Given the description of an element on the screen output the (x, y) to click on. 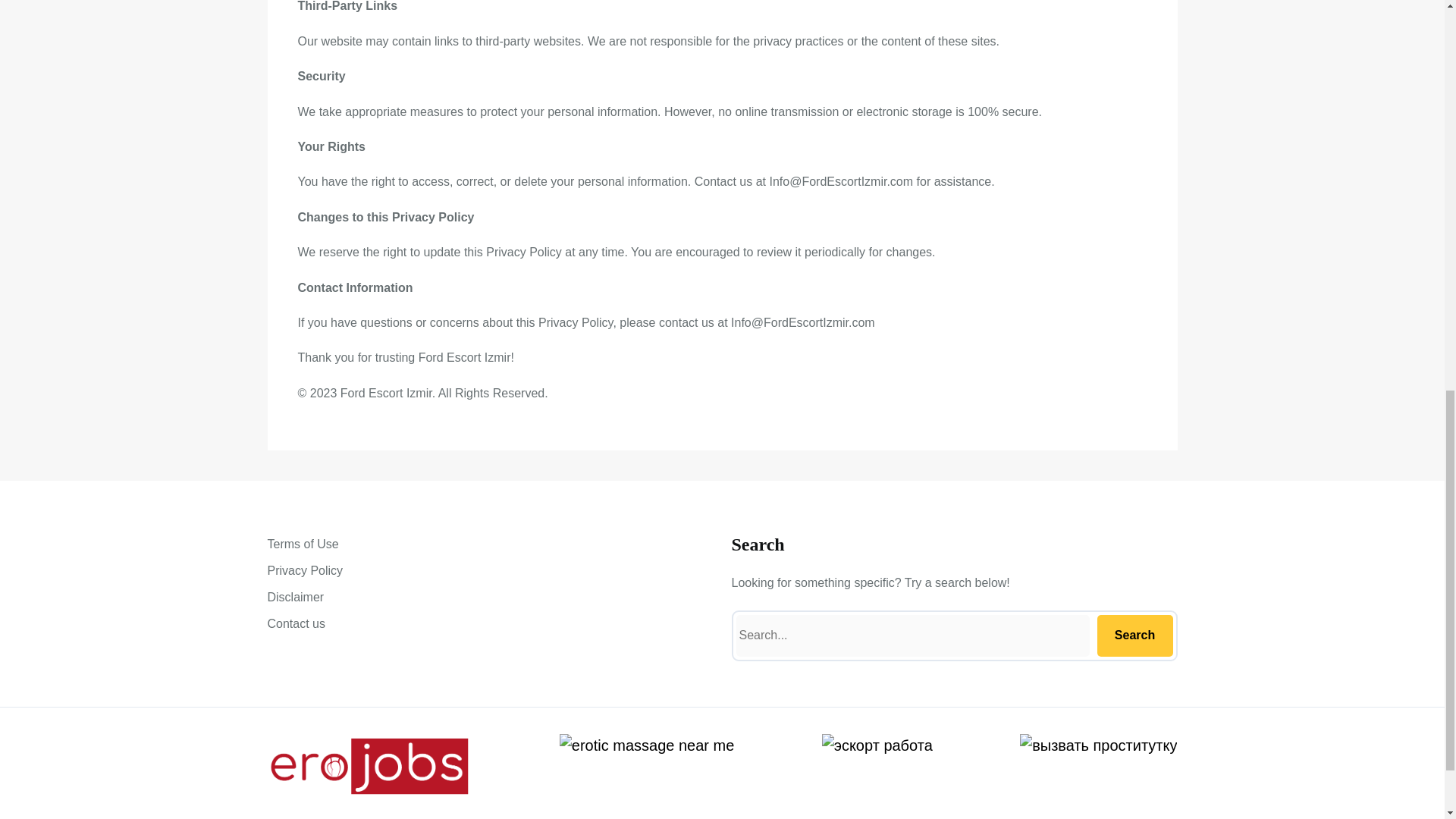
Contact us (295, 623)
Disclaimer (294, 597)
Search (1134, 635)
Terms of Use (301, 544)
Privacy Policy (304, 570)
